Given the description of an element on the screen output the (x, y) to click on. 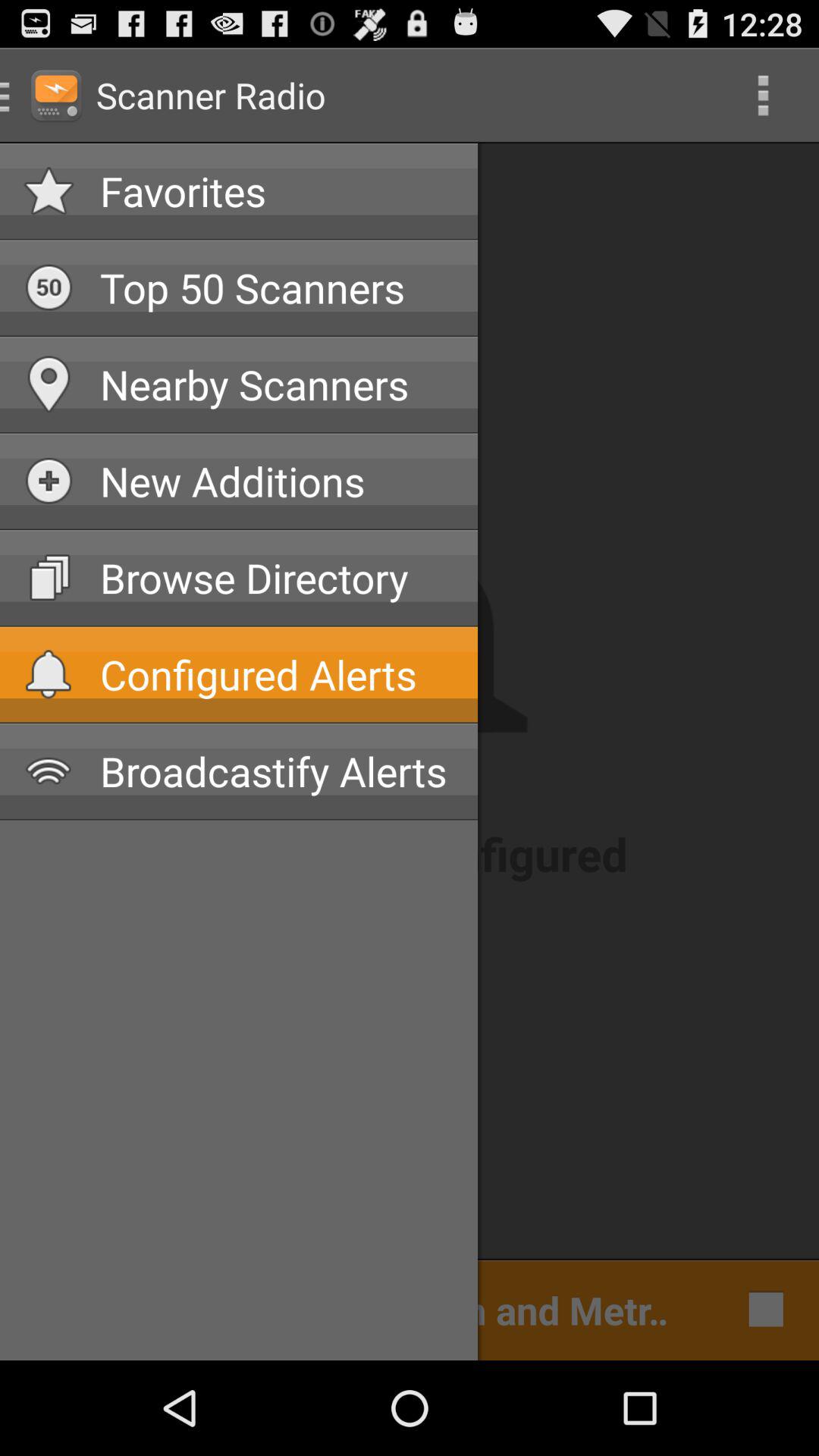
press browse directory app (276, 577)
